Given the description of an element on the screen output the (x, y) to click on. 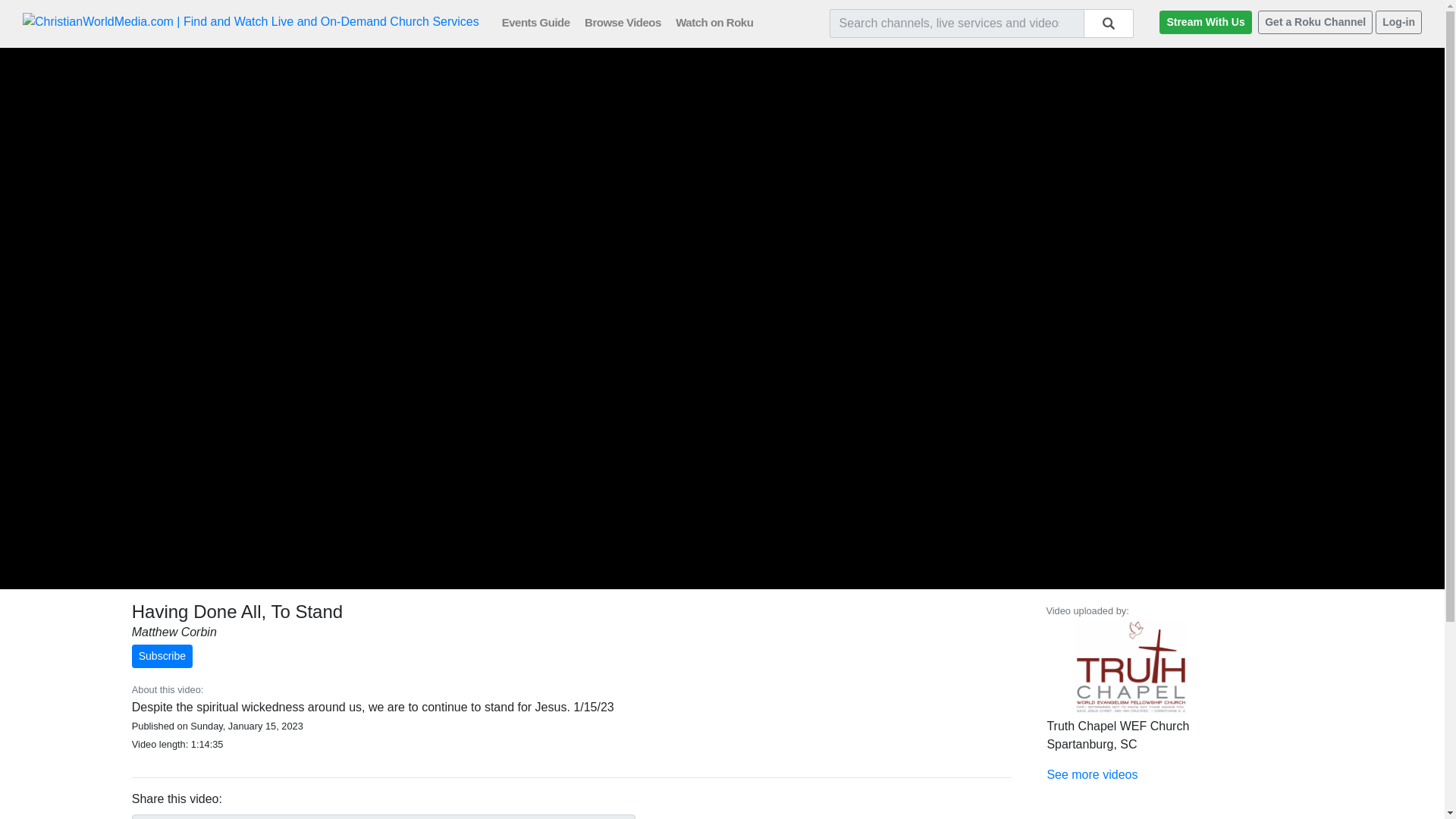
Browse Videos (628, 21)
Watch on Roku (719, 21)
Log-in (1398, 22)
Subscribe (162, 656)
Get a Roku Channel (1315, 22)
Events Guide (541, 21)
See more videos (1091, 774)
Stream With Us (1204, 22)
